Given the description of an element on the screen output the (x, y) to click on. 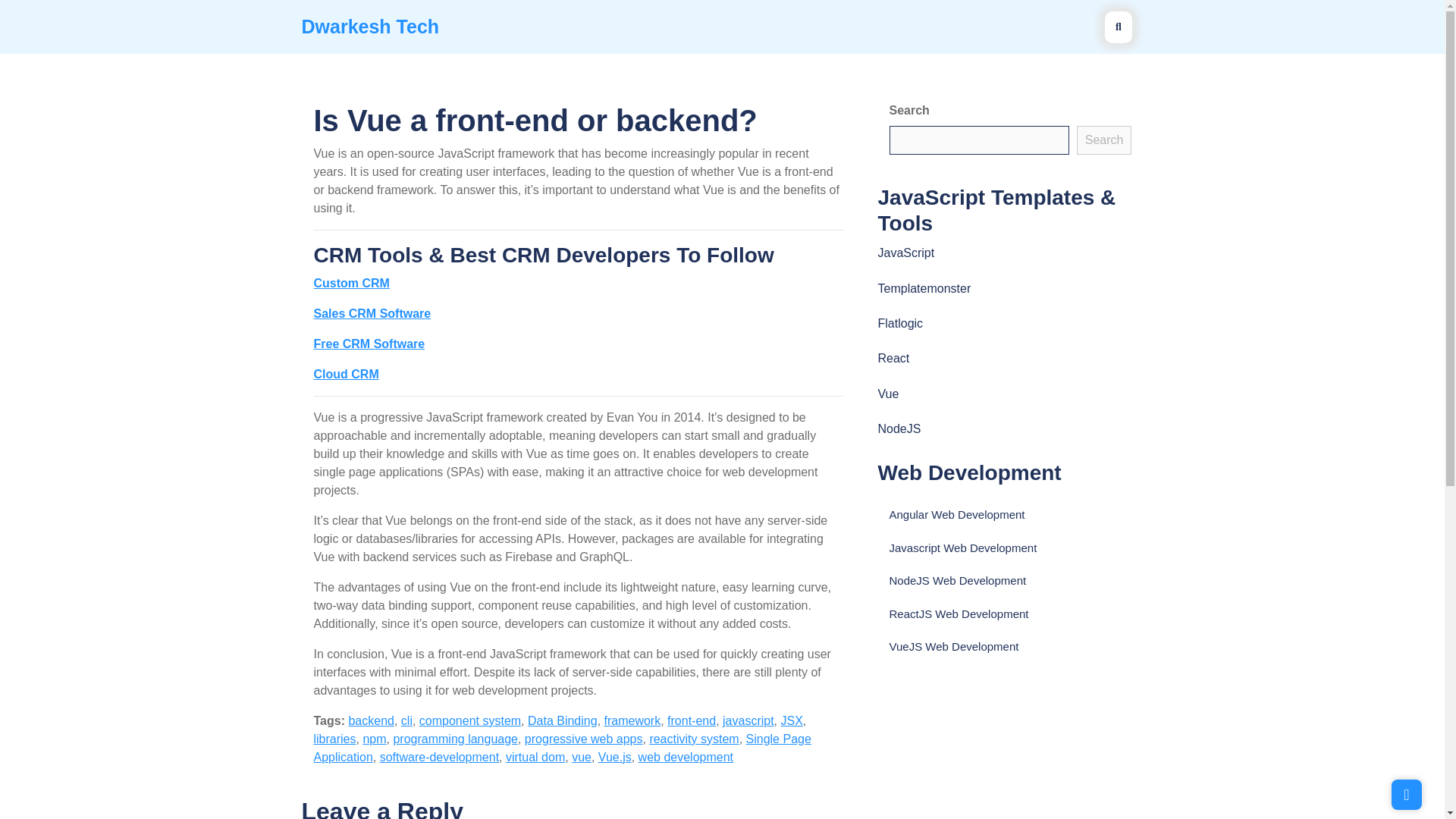
NodeJS (899, 428)
JavaScript (905, 252)
reactivity system (693, 738)
Dwarkesh Tech (370, 25)
Single Page Application (562, 747)
Search (1104, 140)
vue (581, 757)
Flatlogic (900, 323)
framework (632, 720)
Templatemonster (924, 287)
